Given the description of an element on the screen output the (x, y) to click on. 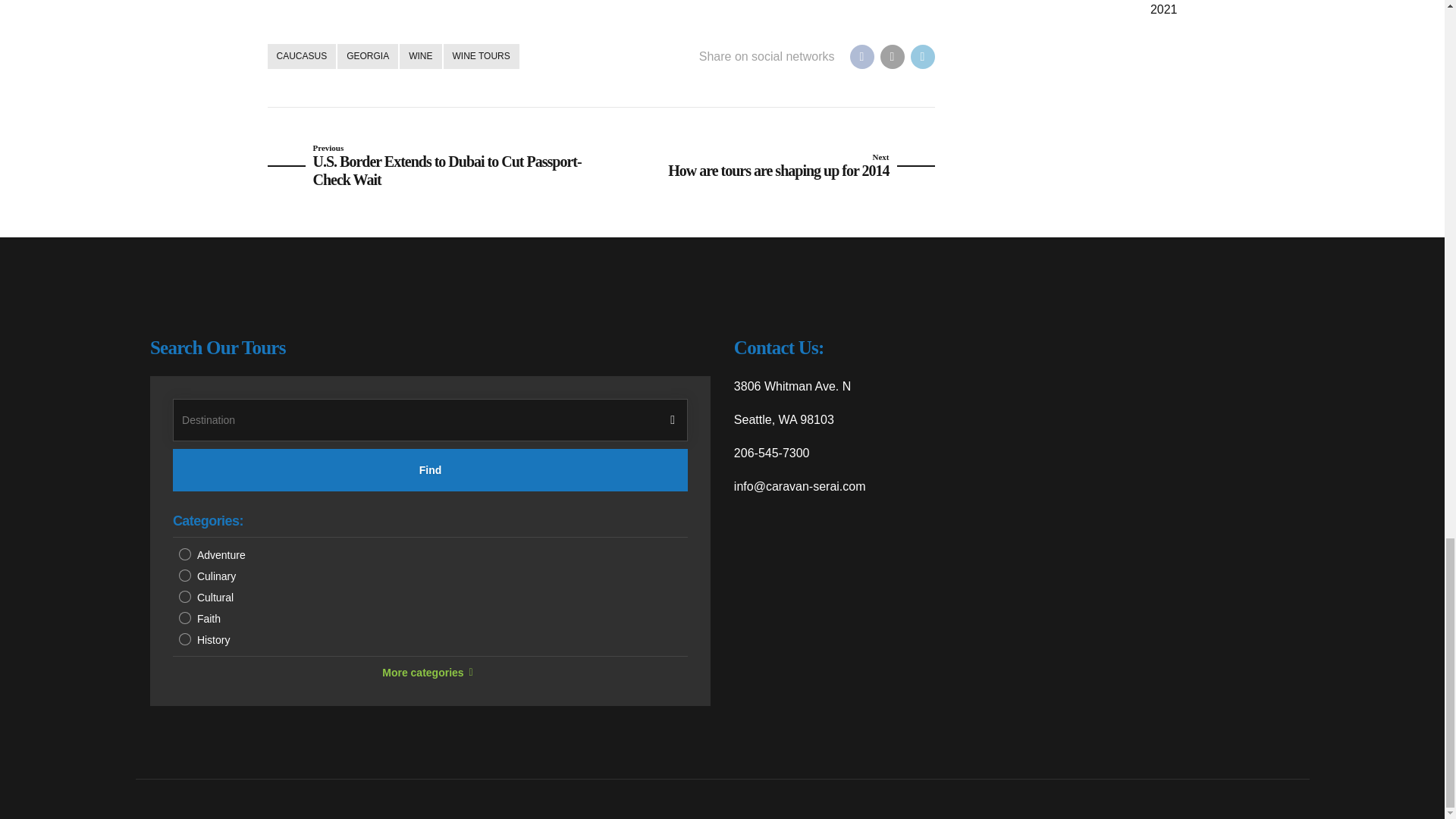
238 (184, 596)
276 (184, 553)
275 (184, 639)
239 (184, 575)
282 (184, 617)
